Given the description of an element on the screen output the (x, y) to click on. 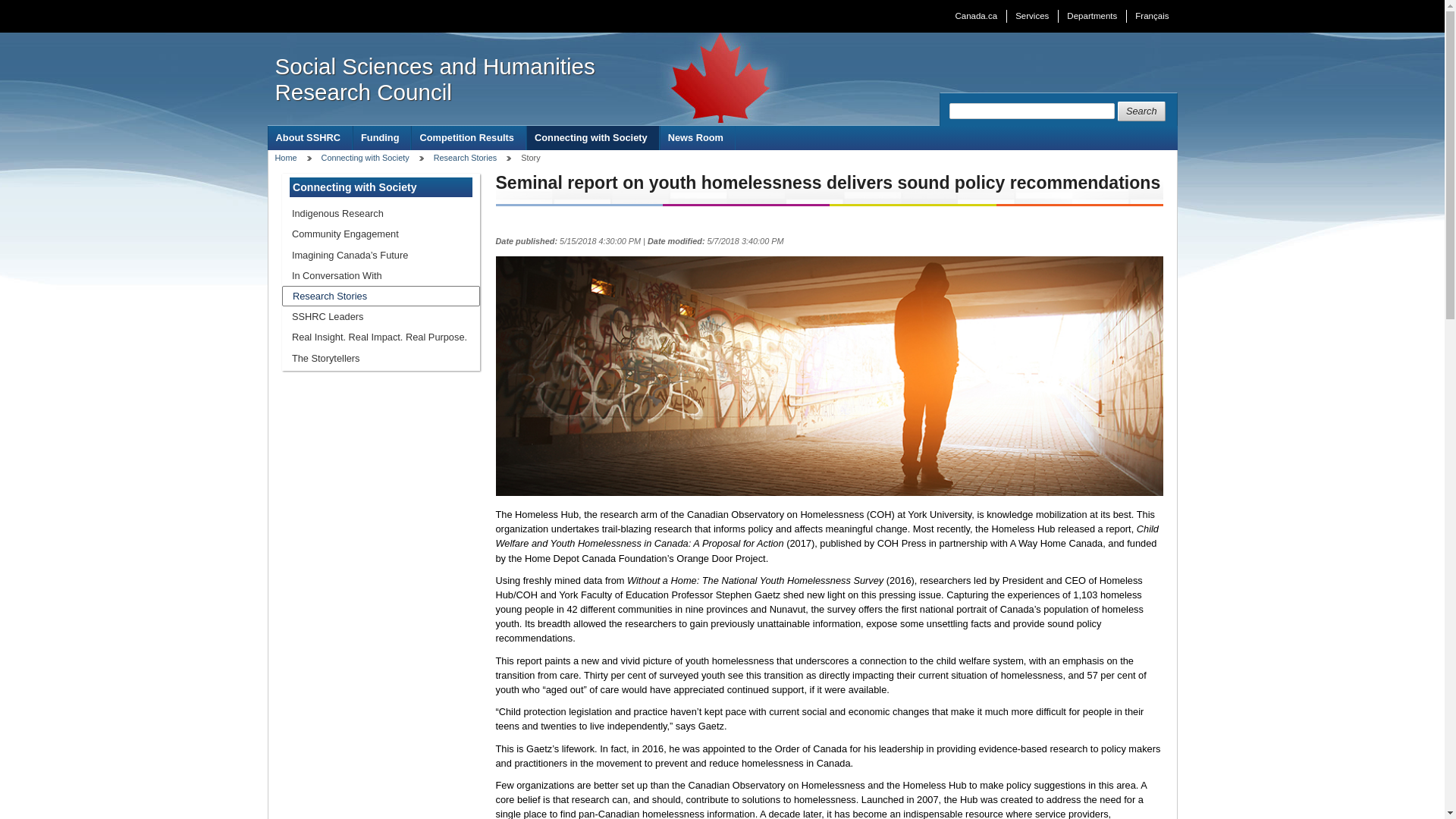
Services (1032, 15)
Departments (1091, 15)
SSHRC Leaders (381, 316)
Research Stories (381, 295)
Canada.ca (976, 15)
Community Engagement (381, 233)
Skip to main content (726, 11)
About SSHRC (309, 137)
Social Sciences and Humanities Research Council (460, 79)
Indigenous Research (381, 213)
Real Insight. Real Impact. Real Purpose. (381, 336)
In Conversation With (381, 275)
Search (1142, 111)
Funding (381, 137)
Search (1142, 111)
